Given the description of an element on the screen output the (x, y) to click on. 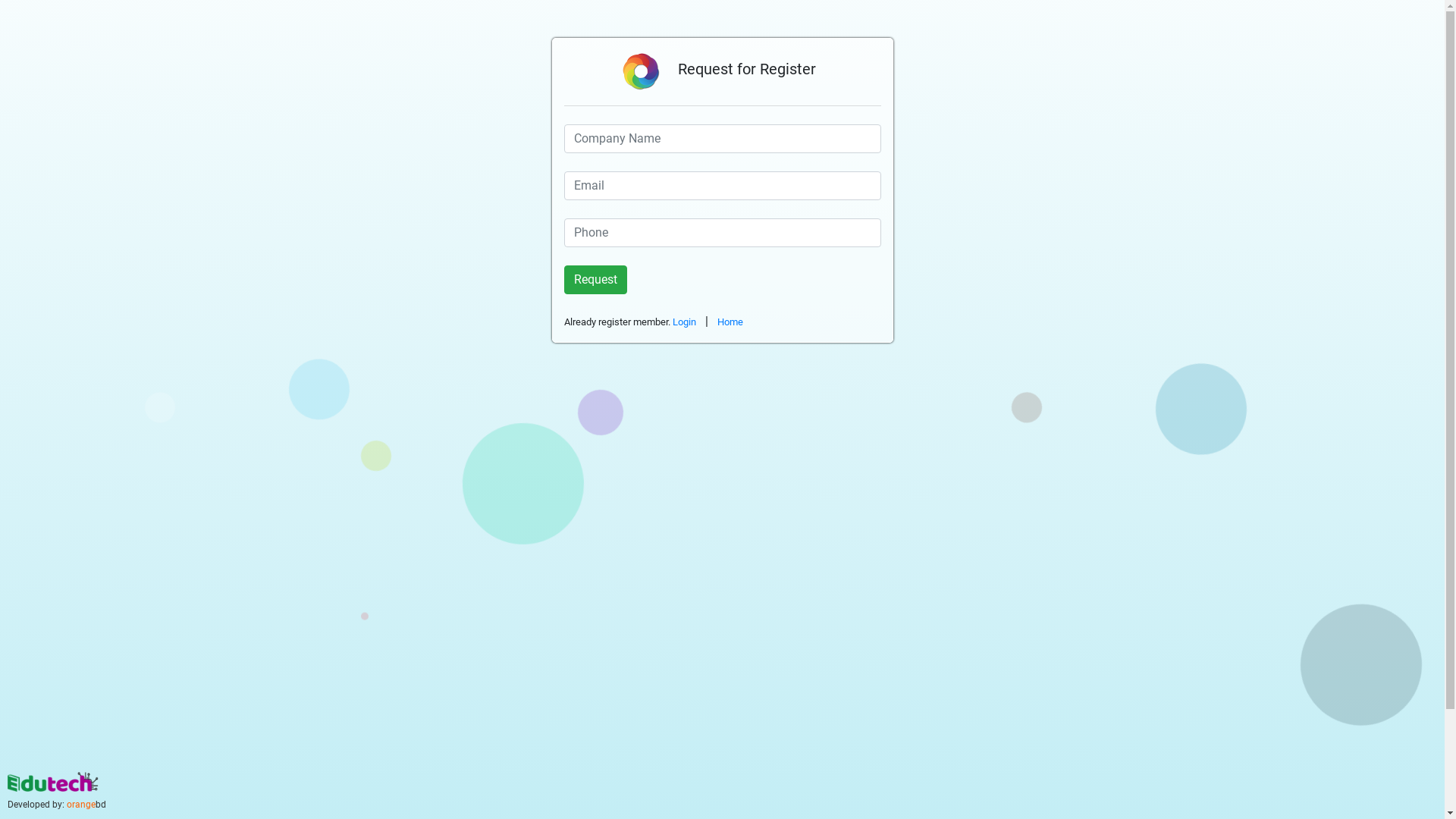
orangebd Element type: text (86, 804)
Home Element type: text (730, 321)
Login Element type: text (683, 321)
Request Element type: text (595, 279)
